Given the description of an element on the screen output the (x, y) to click on. 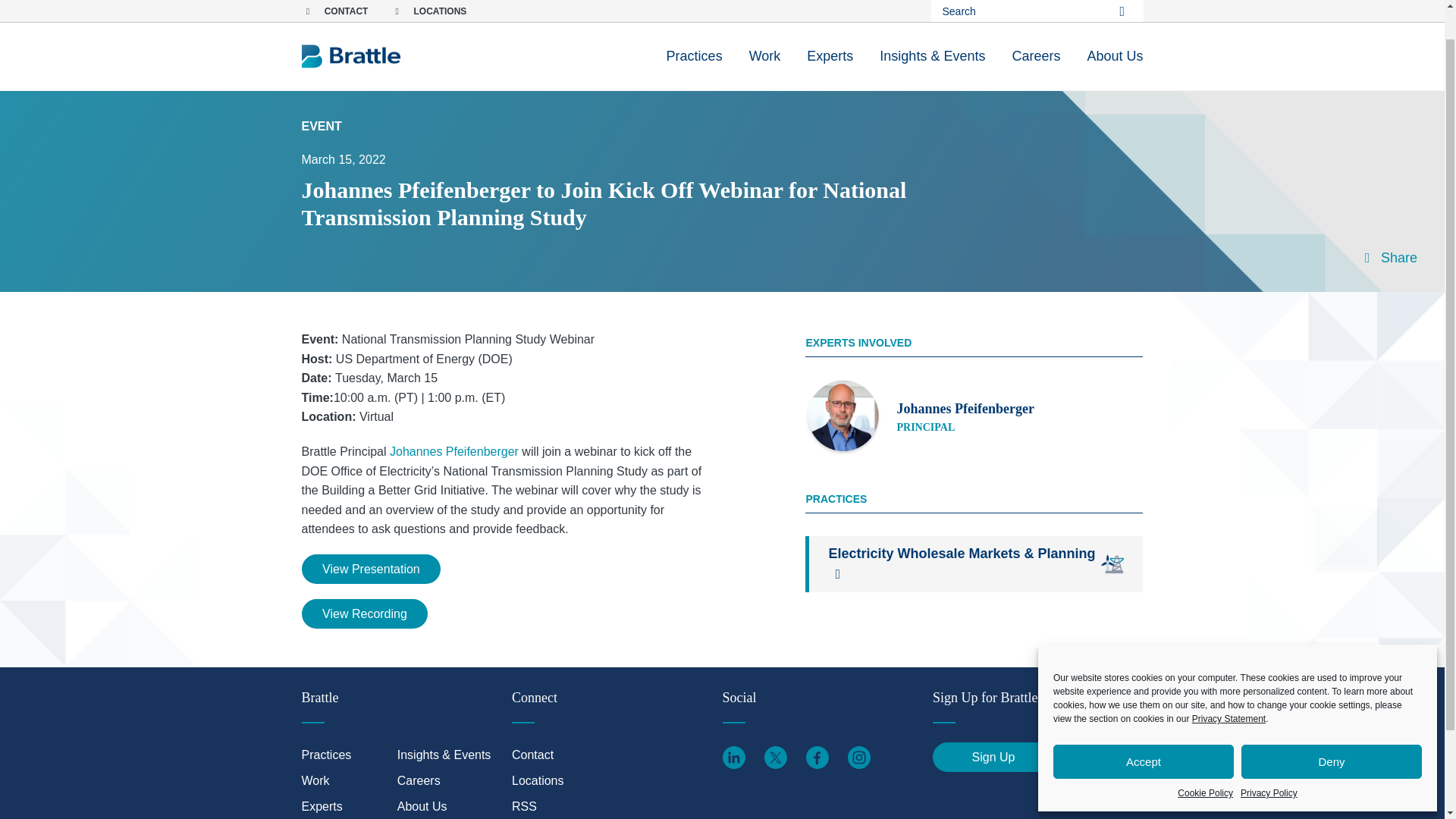
Privacy Statement (1228, 684)
Practices (694, 28)
Privacy Policy (1268, 758)
Cookie Policy (1205, 758)
Deny (1331, 727)
Accept (1142, 727)
